Given the description of an element on the screen output the (x, y) to click on. 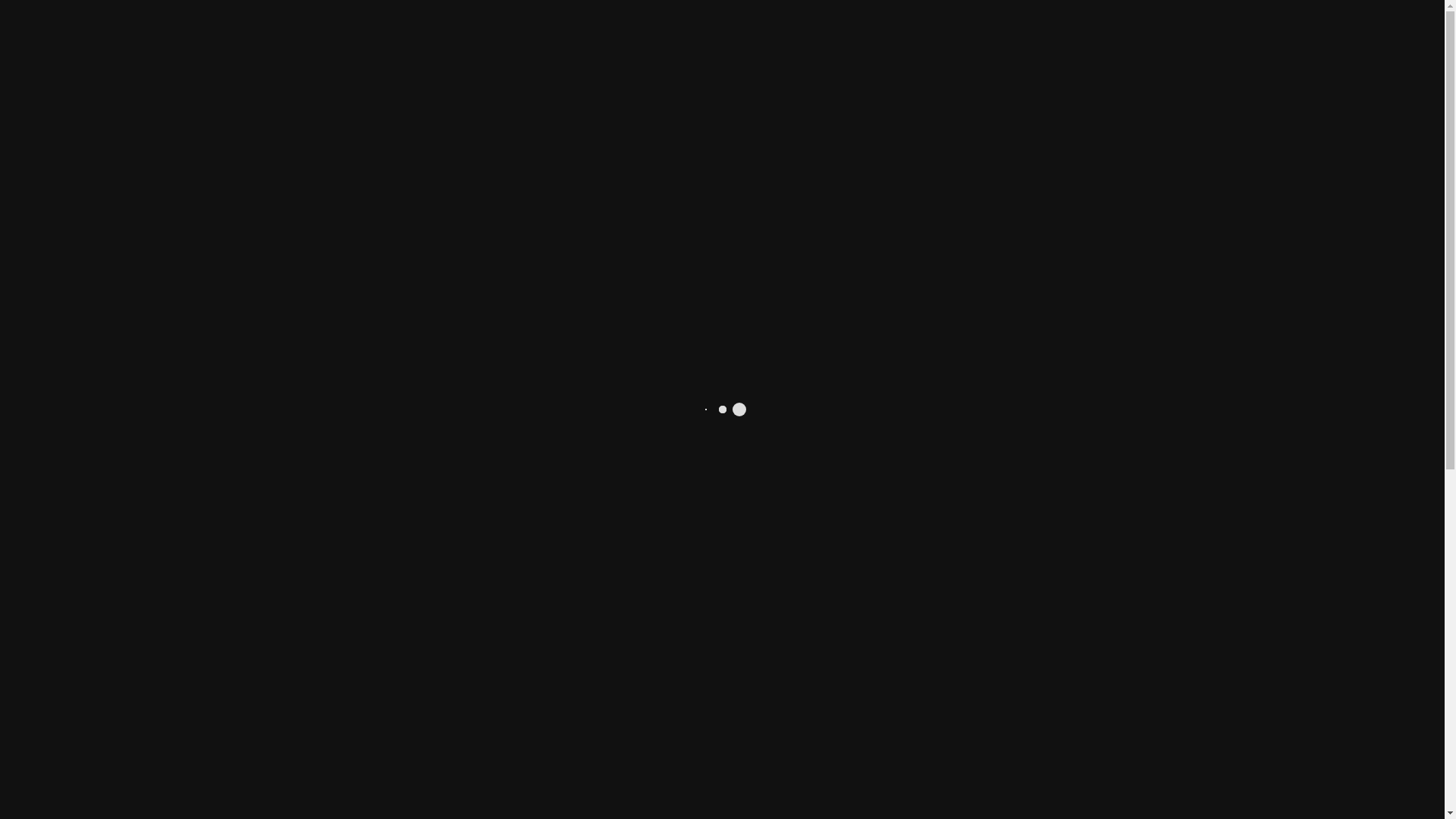
FR Element type: text (1163, 25)
KONTAKT Element type: text (898, 60)
MEDIEN Element type: text (1225, 26)
KINO Element type: text (181, 60)
PRODUKTION Element type: text (605, 60)
HOME ENTERTAINMENT Element type: text (299, 60)
MOVIE CLUB Element type: text (714, 60)
KARRIERE Element type: text (811, 60)
GESAMTER KATALOG Element type: text (469, 60)
